Given the description of an element on the screen output the (x, y) to click on. 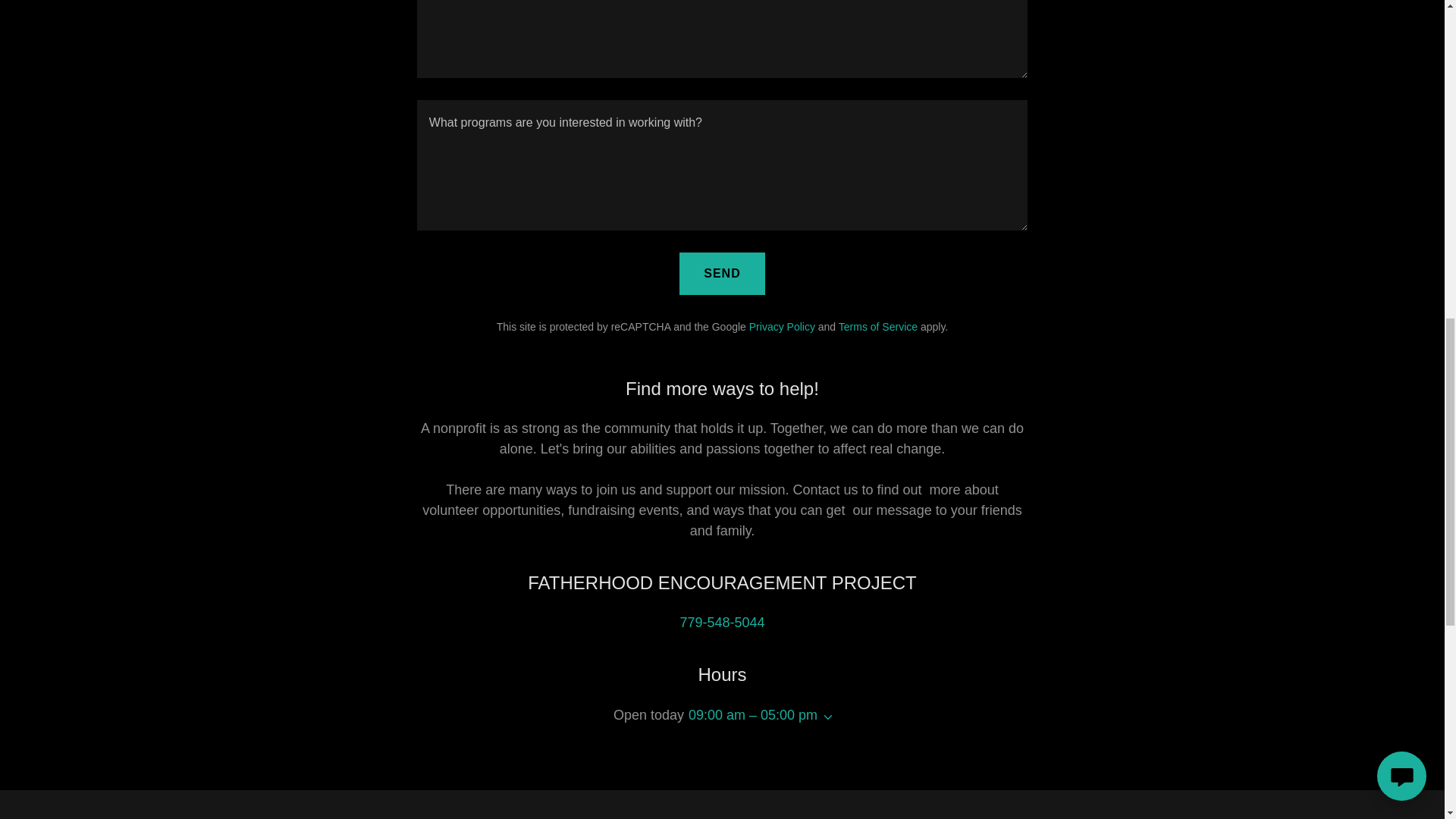
Privacy Policy (782, 326)
Terms of Service (877, 326)
SEND (721, 273)
779-548-5044 (721, 622)
